Given the description of an element on the screen output the (x, y) to click on. 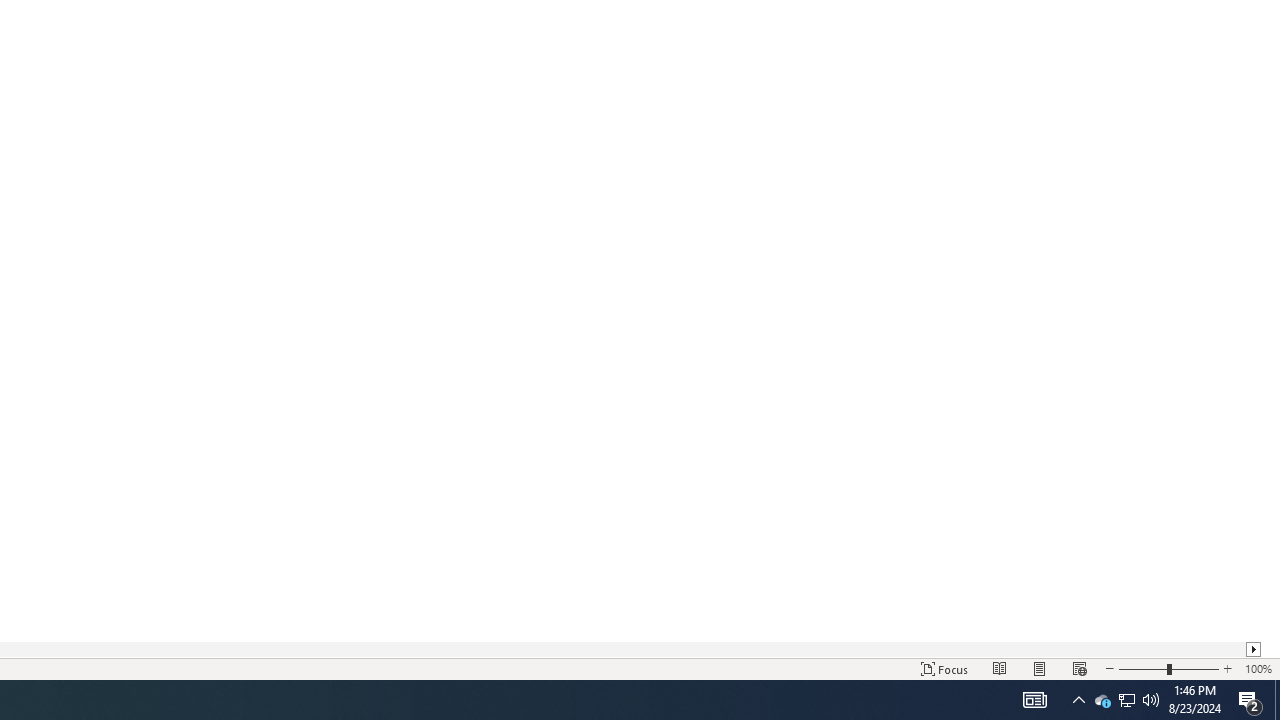
Q2790: 100% (1151, 699)
Zoom 100% (1102, 699)
User Promoted Notification Area (1258, 668)
AutomationID: 4105 (1126, 699)
Column right (1126, 699)
Action Center, 2 new notifications (1034, 699)
Show desktop (1254, 649)
